Given the description of an element on the screen output the (x, y) to click on. 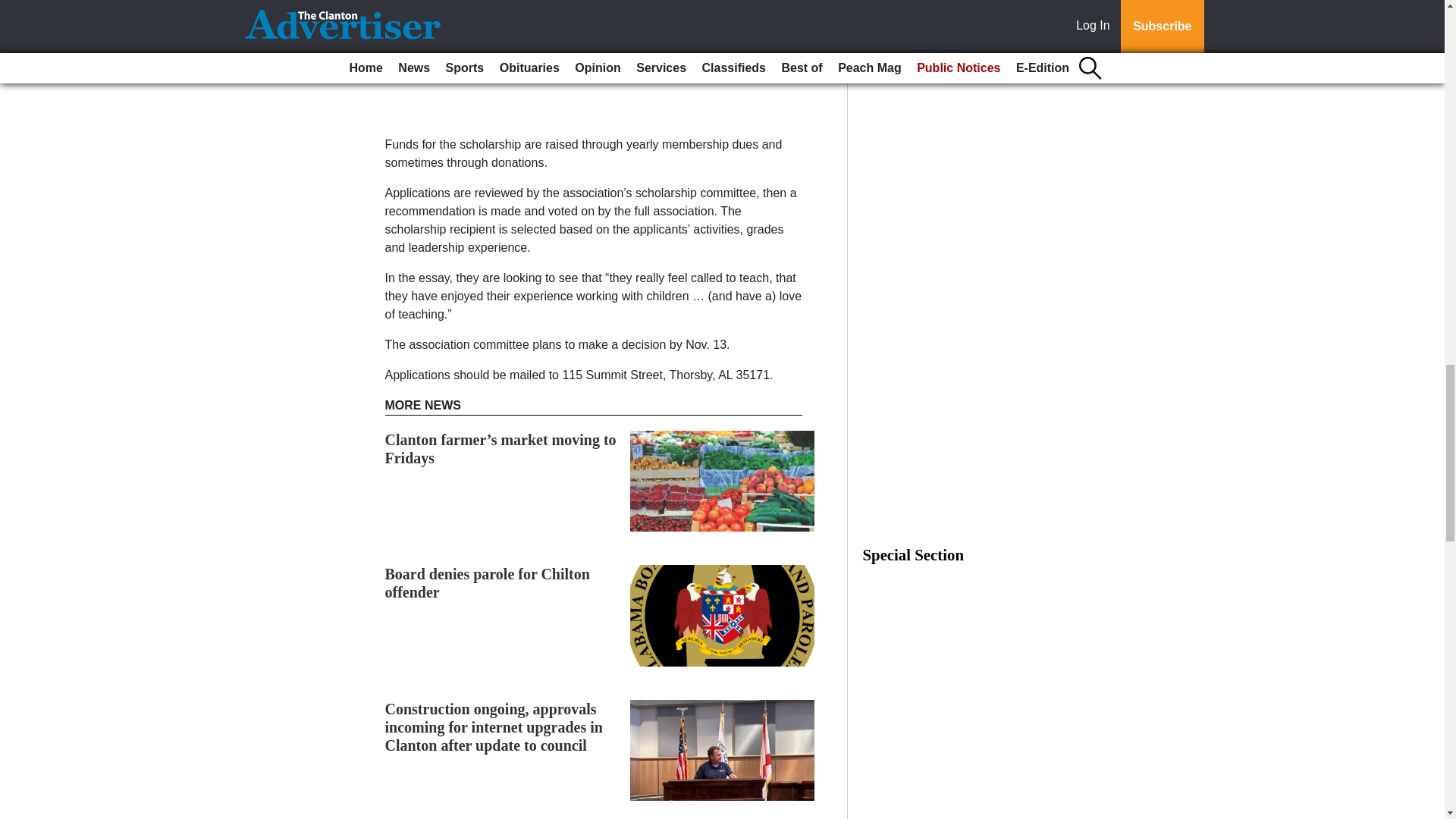
Board denies parole for Chilton offender (487, 582)
Board denies parole for Chilton offender (487, 582)
